Given the description of an element on the screen output the (x, y) to click on. 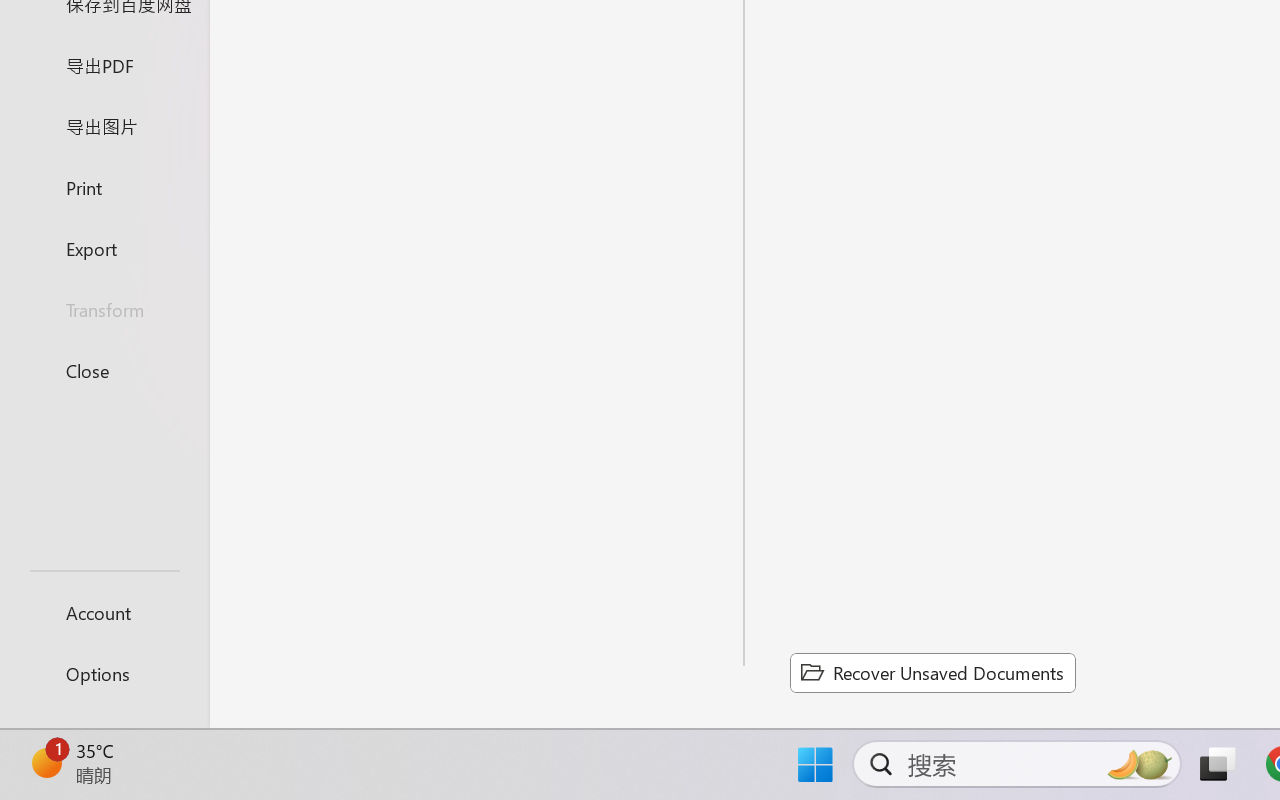
Transform (104, 309)
Options (104, 673)
Account (104, 612)
Export (104, 248)
Recover Unsaved Documents (932, 672)
Print (104, 186)
